Given the description of an element on the screen output the (x, y) to click on. 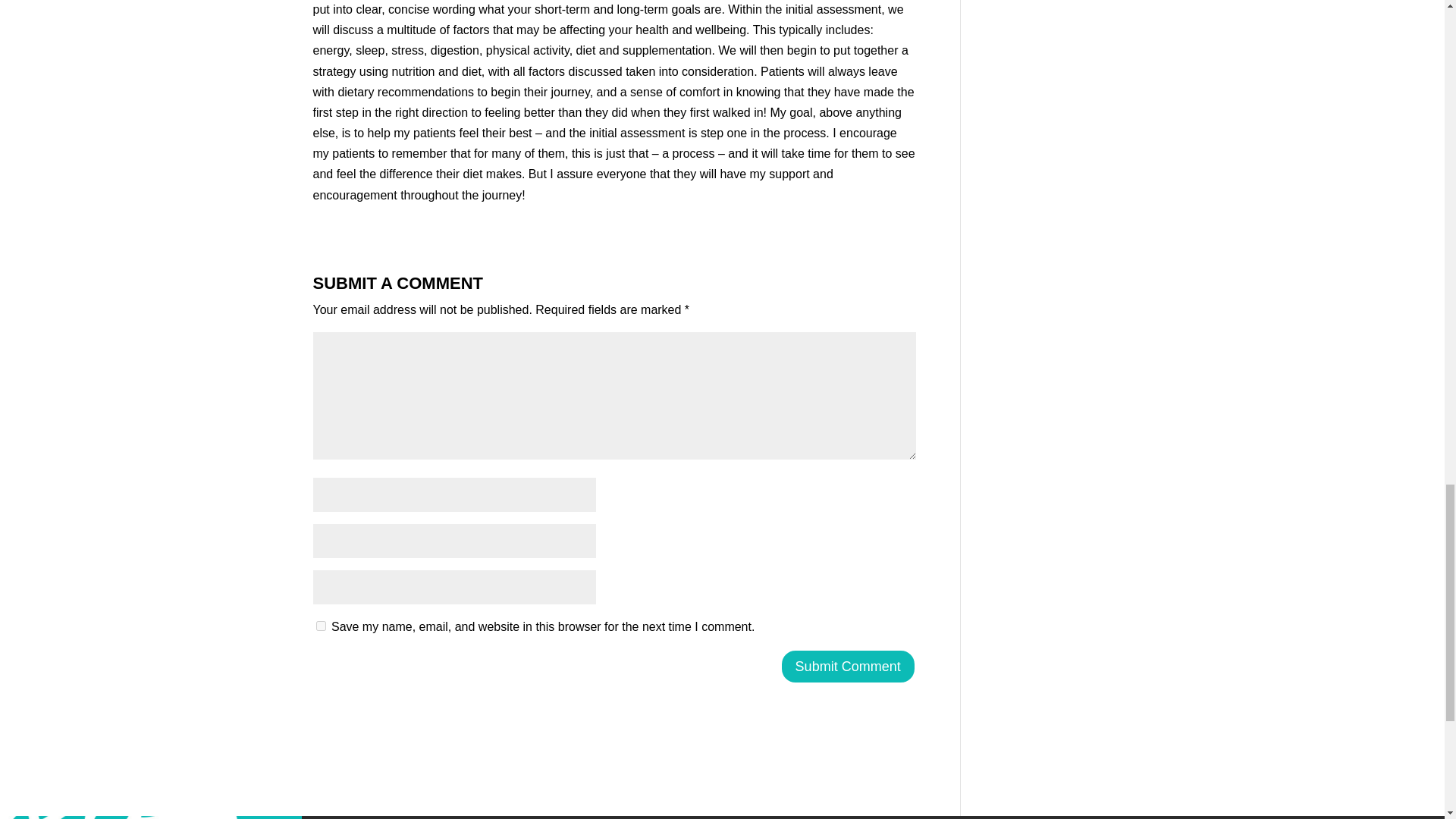
yes (319, 625)
Submit Comment (847, 666)
